Given the description of an element on the screen output the (x, y) to click on. 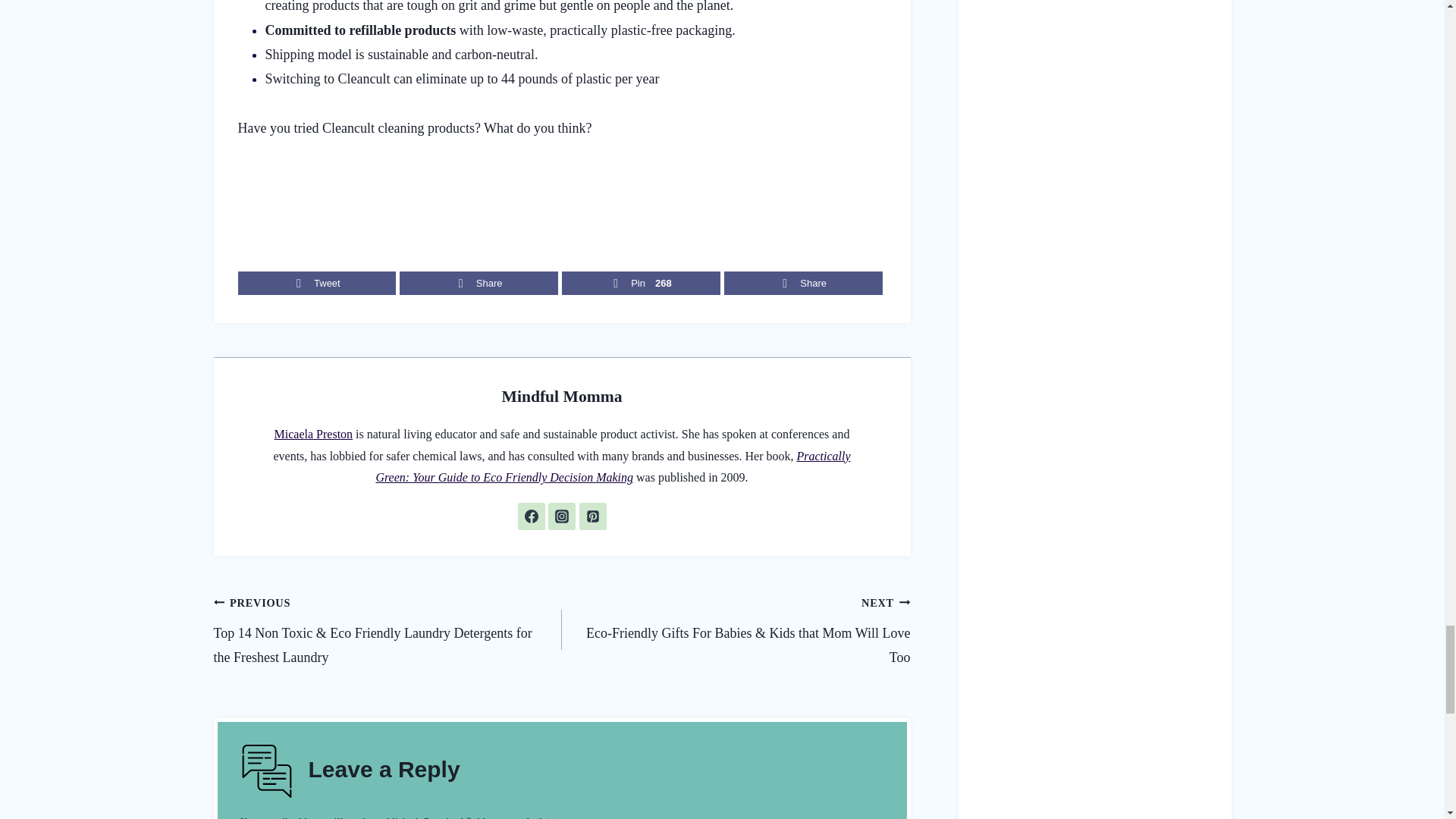
Follow Mindful Momma on Facebook (530, 515)
Follow Mindful Momma on Instagram (561, 515)
Follow Mindful Momma on Pinterest (593, 515)
